Given the description of an element on the screen output the (x, y) to click on. 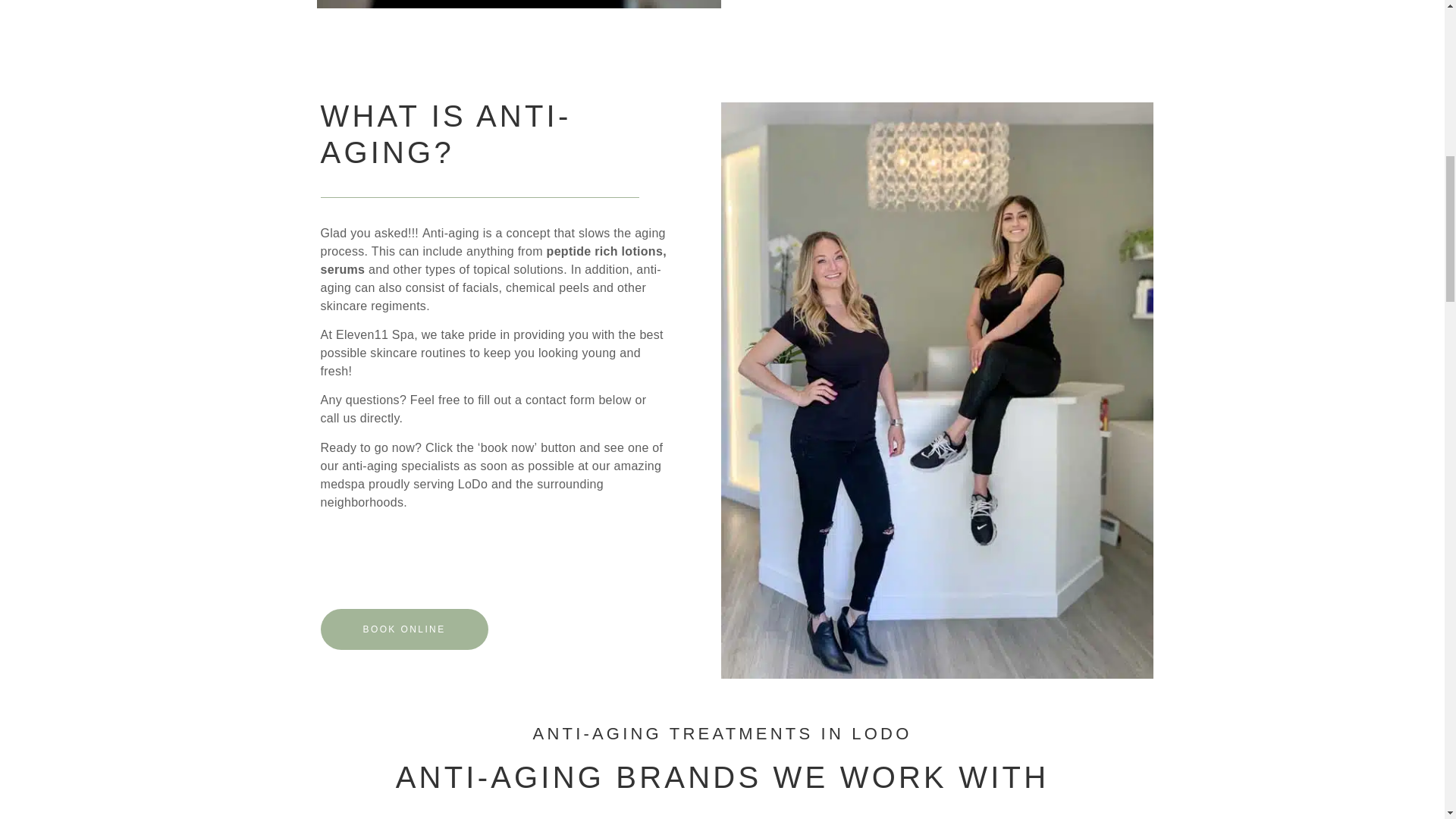
Anti-Aging Treatments In LoDo 2 (936, 389)
